Given the description of an element on the screen output the (x, y) to click on. 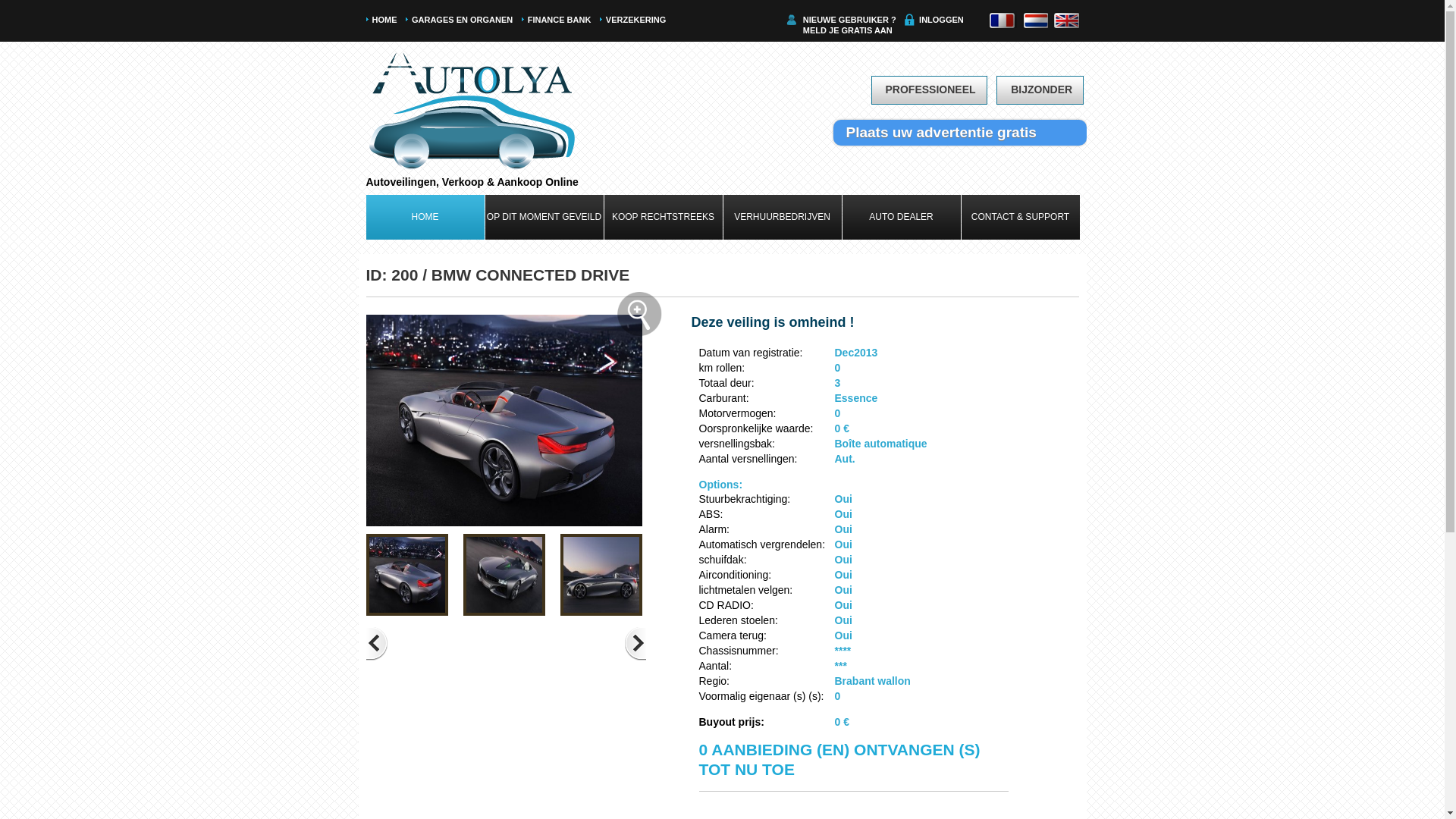
English Element type: hover (1064, 19)
Plaats uw advertentie gratis Element type: text (958, 132)
OP DIT MOMENT GEVEILD Element type: text (544, 216)
KOOP RECHTSTREEKS Element type: text (662, 216)
AUTO DEALER Element type: text (900, 216)
INLOGGEN Element type: text (941, 19)
Nederlands Element type: hover (1034, 19)
BIJZONDER Element type: text (1039, 89)
   Element type: text (1034, 19)
CONTACT & SUPPORT Element type: text (1020, 216)
VERHUURBEDRIJVEN Element type: text (782, 216)
HOME Element type: text (424, 216)
VERZEKERING Element type: text (635, 19)
NIEUWE GEBRUIKER ?
MELD JE GRATIS AAN Element type: text (849, 24)
HOME Element type: text (383, 19)
   Element type: text (1001, 19)
FINANCE BANK Element type: text (559, 19)
   Element type: text (1064, 19)
PROFESSIONEEL Element type: text (928, 89)
Autolya Element type: text (471, 108)
GARAGES EN ORGANEN Element type: text (461, 19)
